Given the description of an element on the screen output the (x, y) to click on. 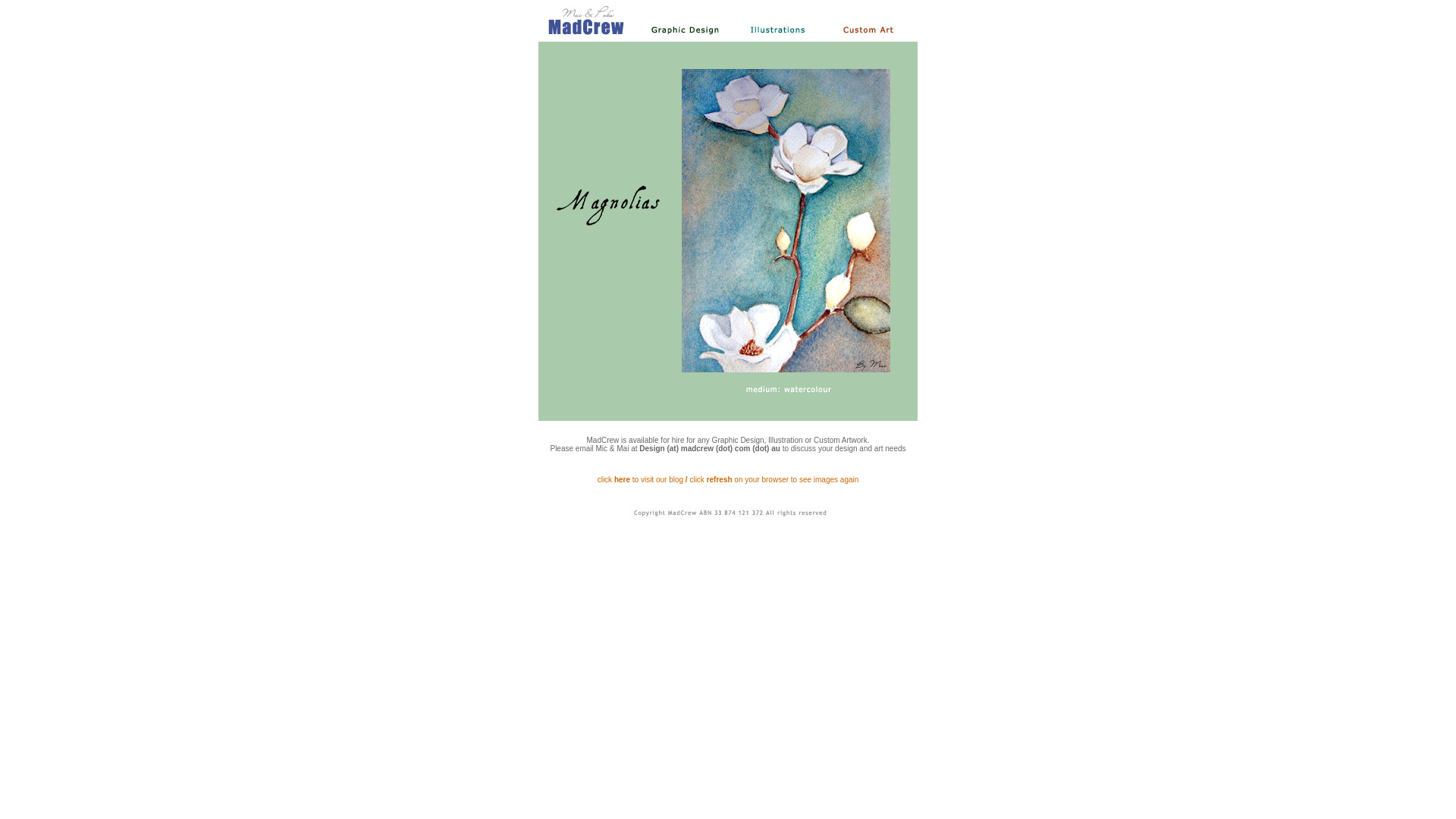
click here to visit our blog Element type: text (640, 479)
